Given the description of an element on the screen output the (x, y) to click on. 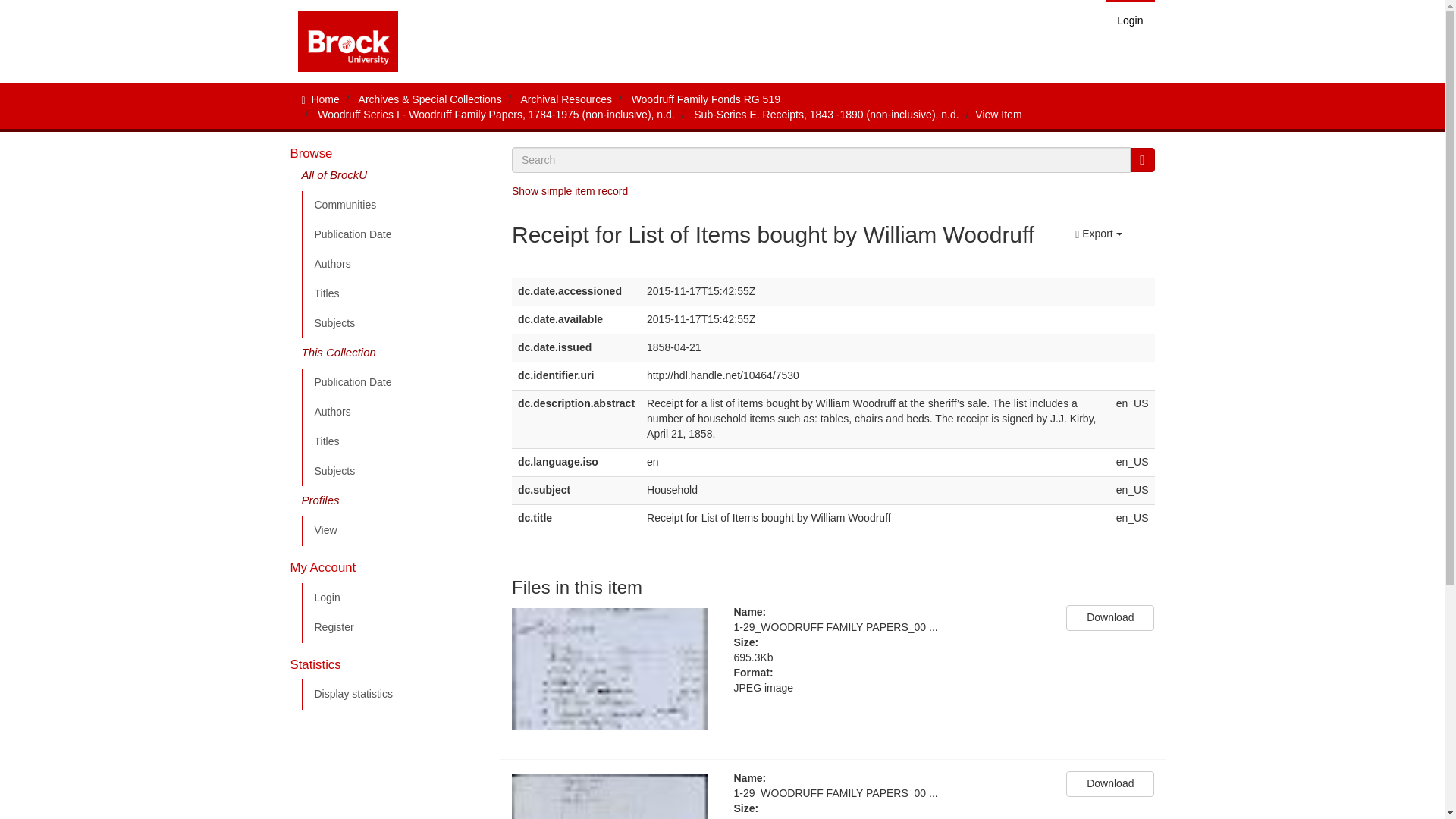
Titles (395, 441)
View (395, 530)
Subjects (395, 471)
Profiles (395, 501)
Login (1129, 19)
All of BrockU (395, 179)
Subjects (395, 323)
Archival Resources (565, 99)
Titles (395, 294)
Register (395, 627)
